Given the description of an element on the screen output the (x, y) to click on. 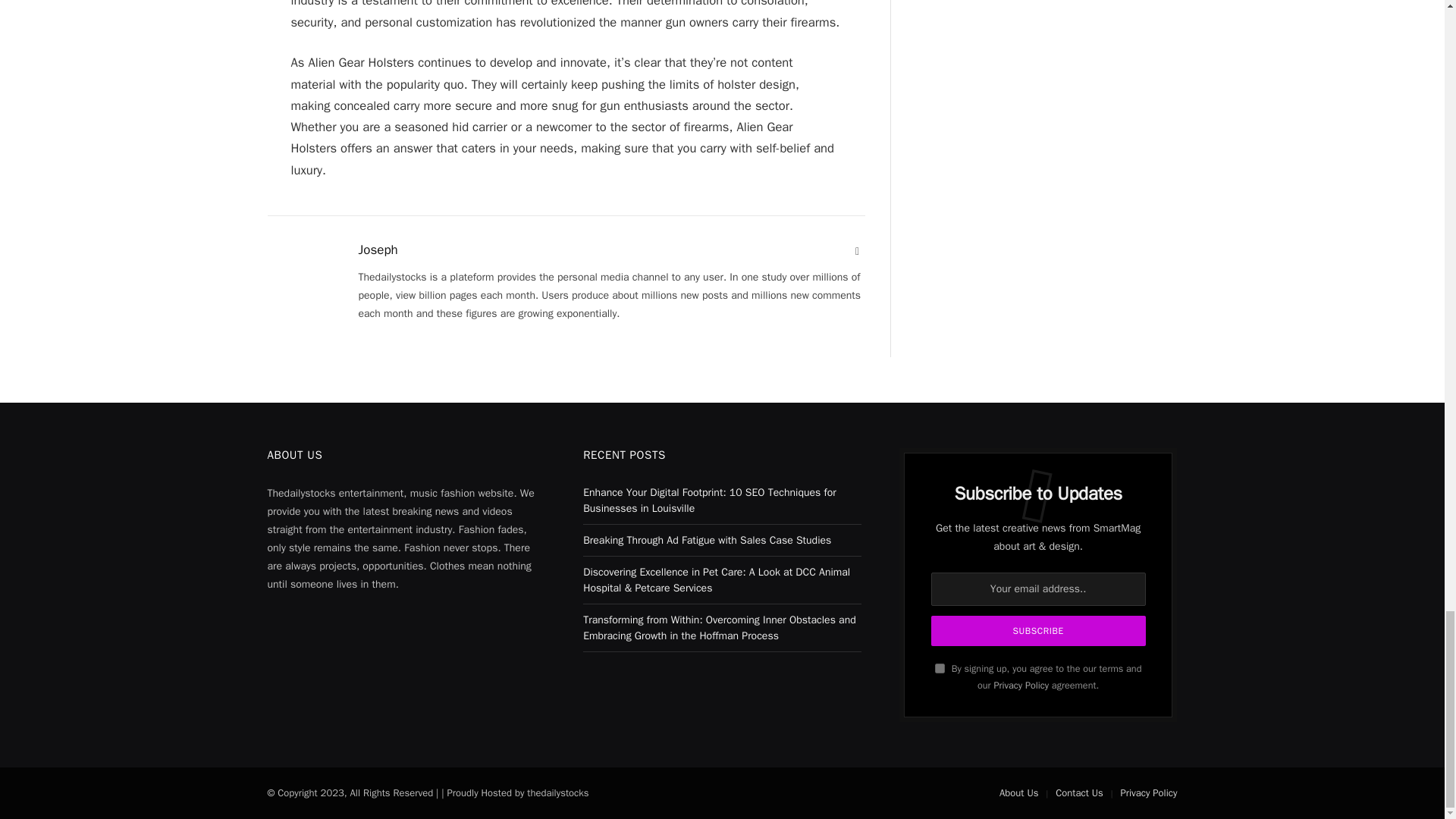
on (939, 668)
Subscribe (1038, 630)
